Given the description of an element on the screen output the (x, y) to click on. 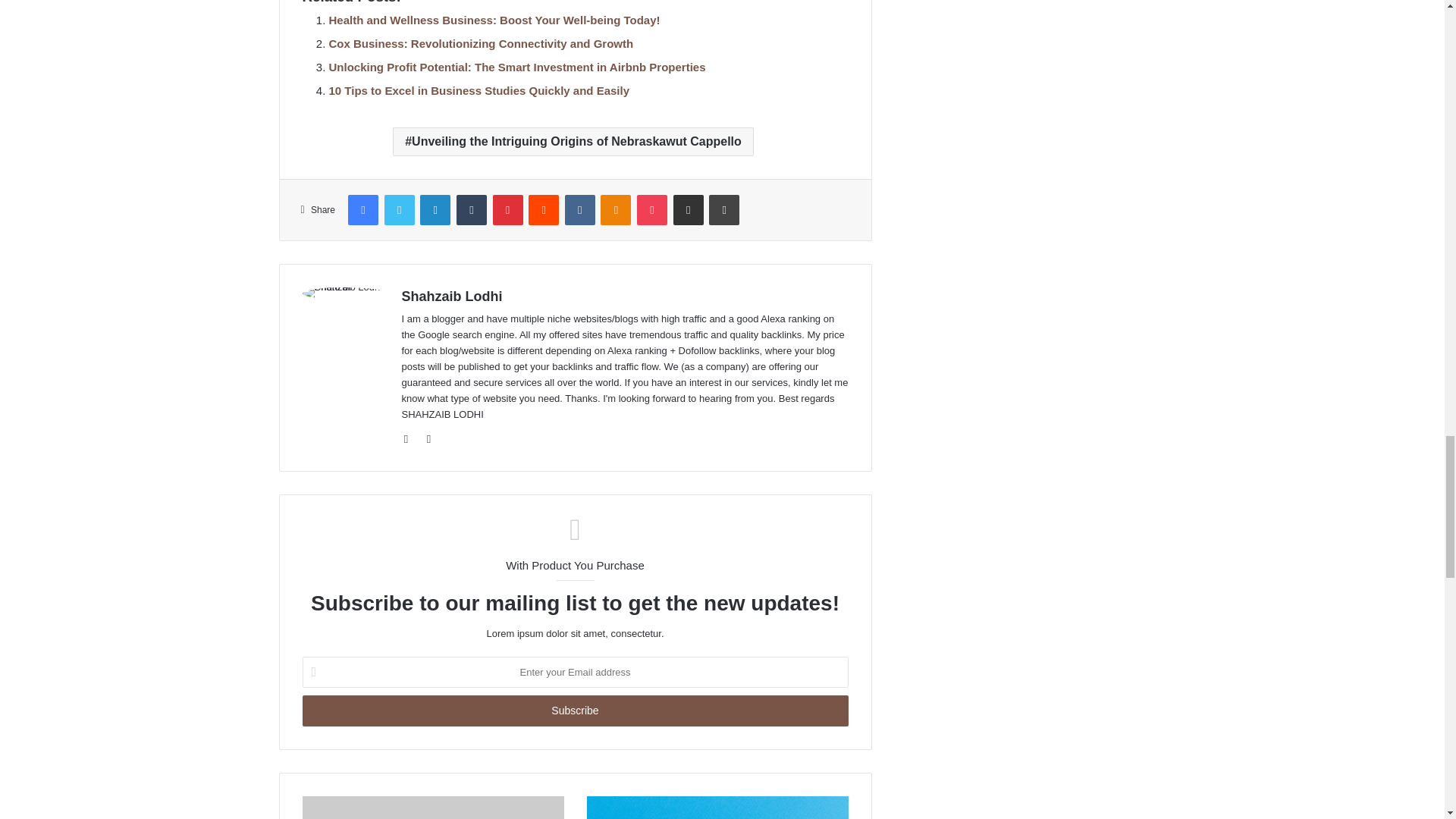
Health and Wellness Business: Boost Your Well-being Today! (495, 19)
Cox Business: Revolutionizing Connectivity and Growth (481, 42)
Unveiling the Intriguing Origins of Nebraskawut Cappello (573, 141)
Health and Wellness Business: Boost Your Well-being Today! (495, 19)
Subscribe (574, 710)
Cox Business: Revolutionizing Connectivity and Growth (481, 42)
10 Tips to Excel in Business Studies Quickly and Easily (479, 90)
